Given the description of an element on the screen output the (x, y) to click on. 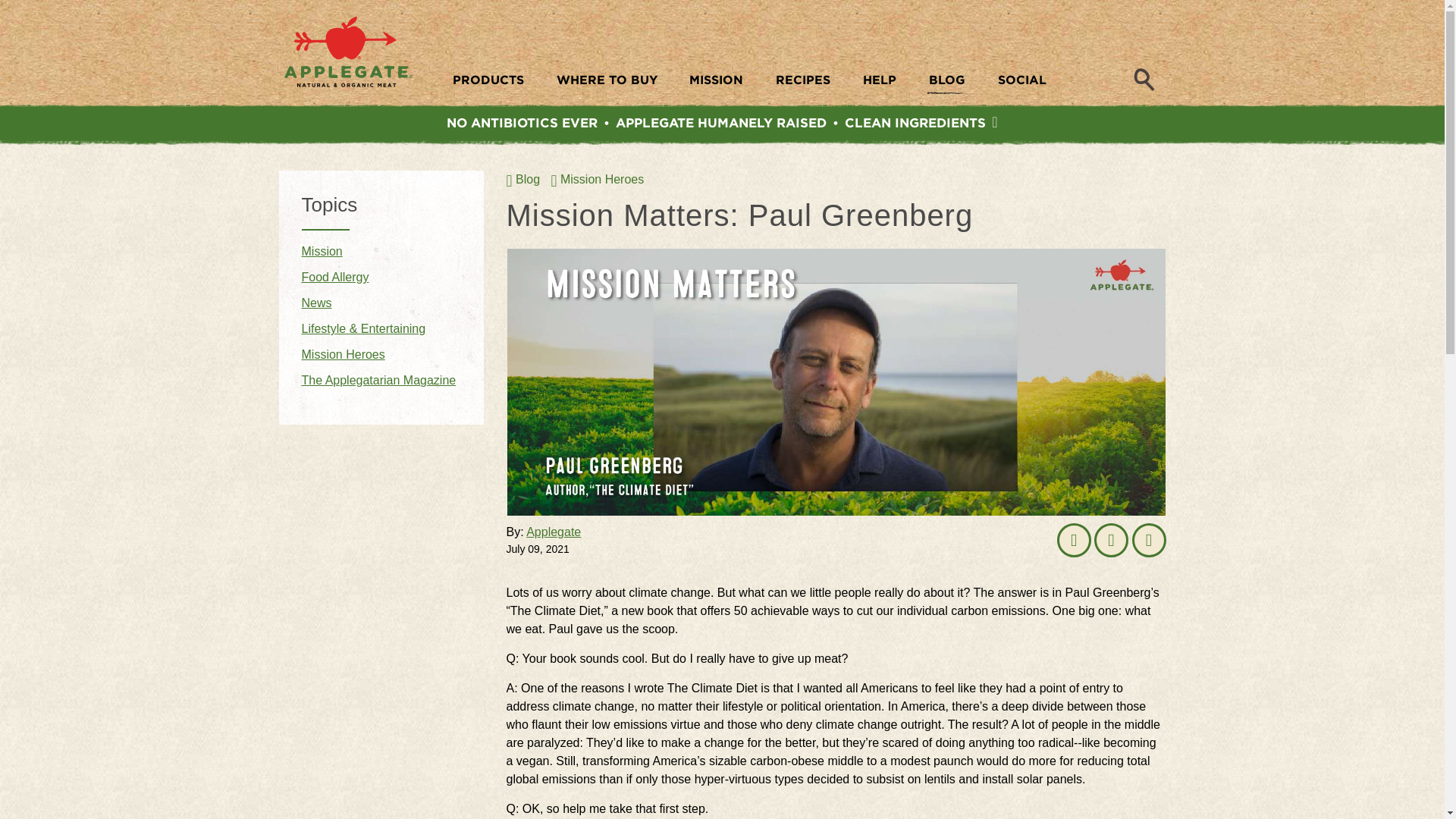
Search (1144, 77)
SOCIAL (1021, 82)
PRODUCTS (488, 82)
RECIPES (802, 82)
MISSION (715, 82)
WHERE TO BUY (607, 82)
